Given the description of an element on the screen output the (x, y) to click on. 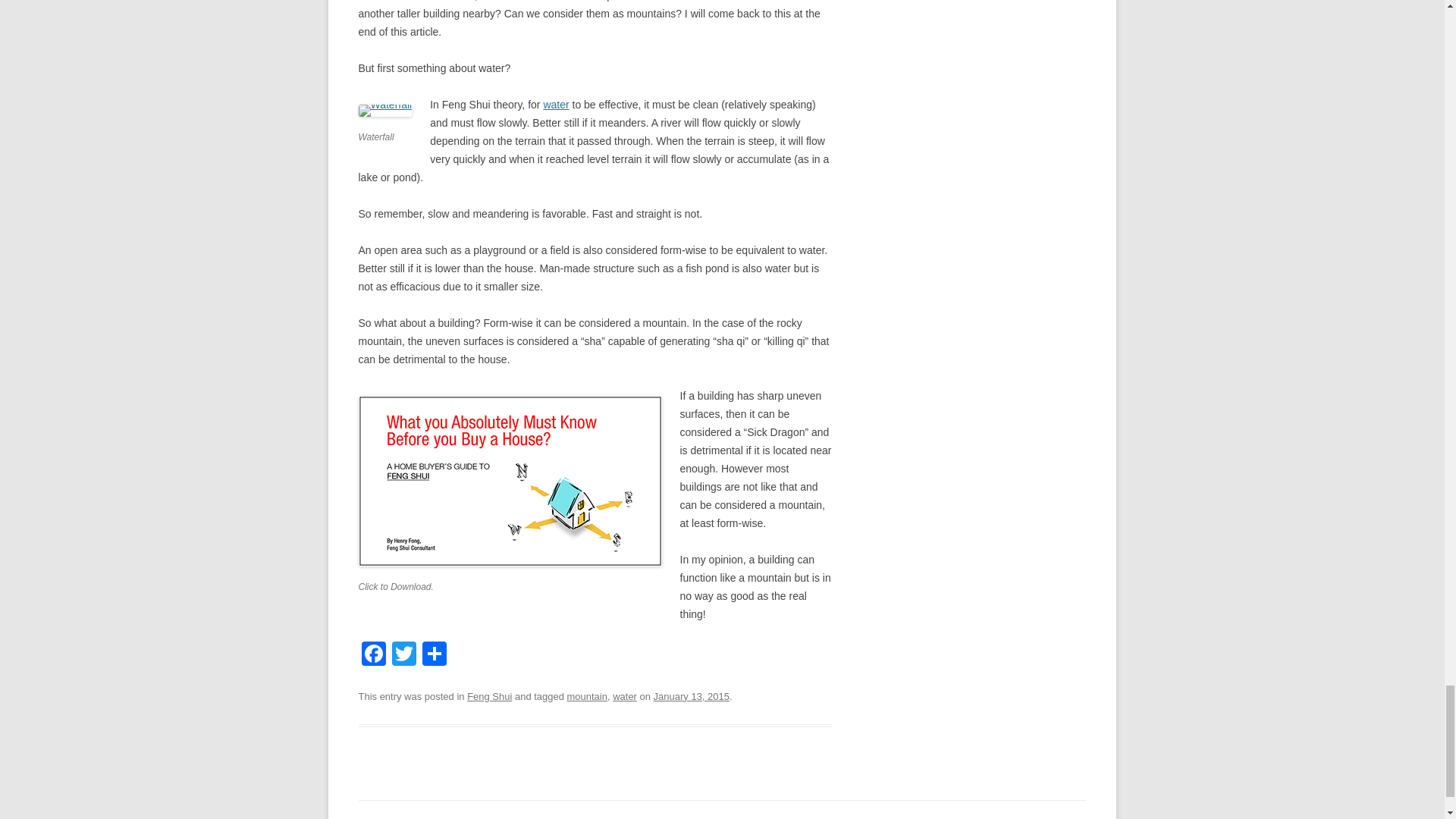
Water and Wealth (556, 104)
